Given the description of an element on the screen output the (x, y) to click on. 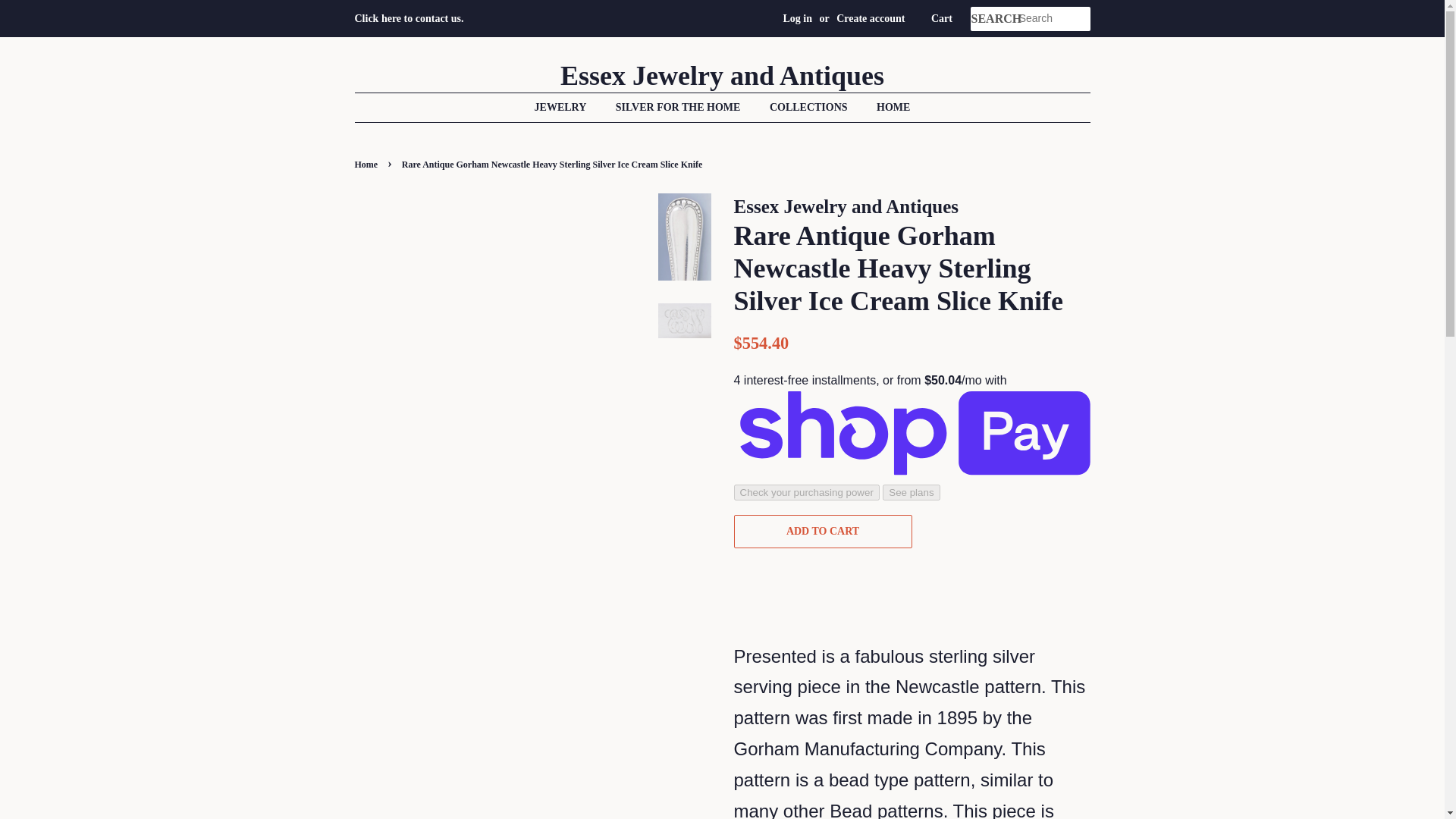
Log in (797, 18)
Click here to contact us. (409, 18)
Create account (869, 18)
SEARCH (994, 18)
Back to the frontpage (368, 163)
Cart (941, 18)
